Given the description of an element on the screen output the (x, y) to click on. 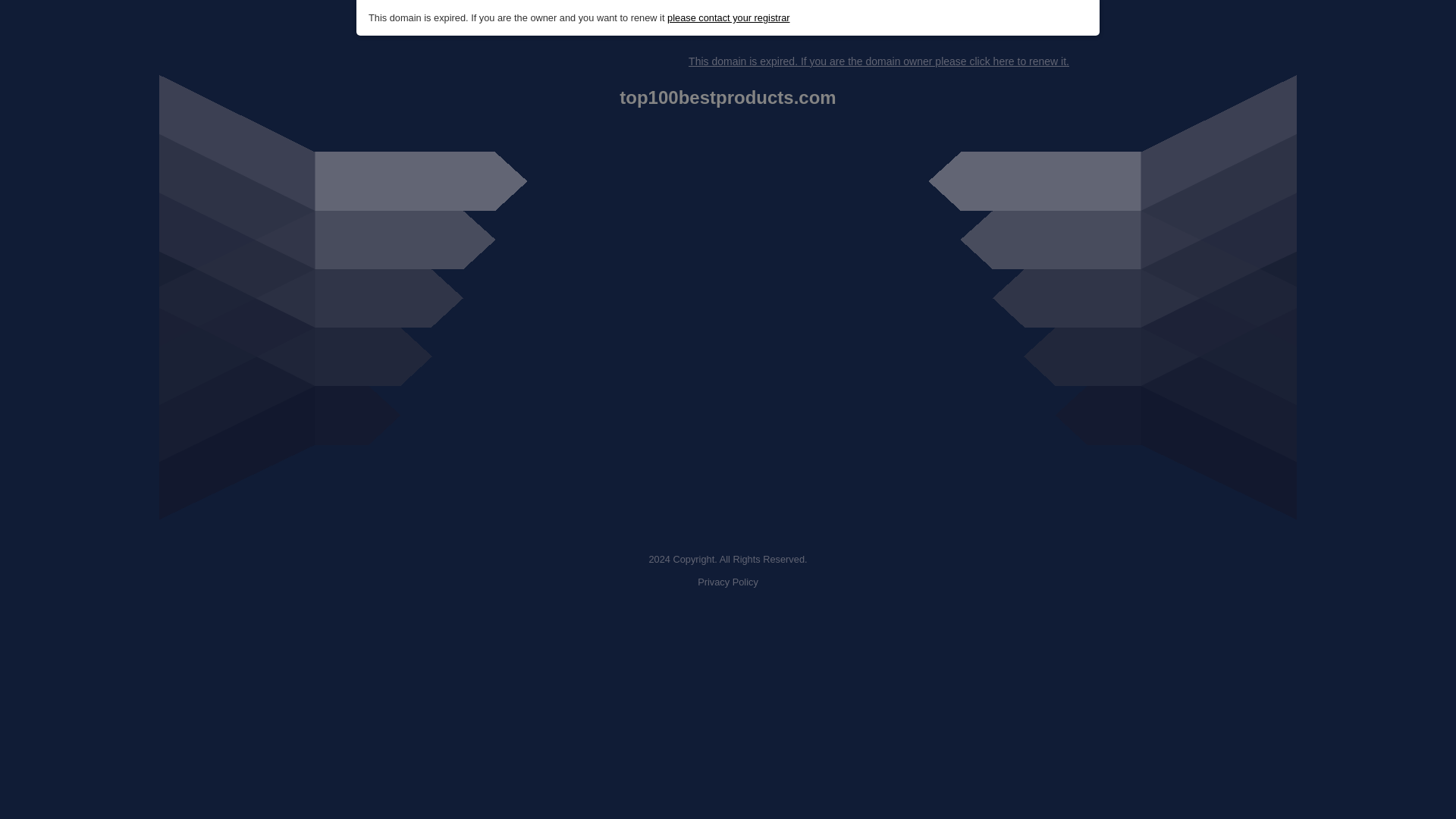
Privacy Policy (727, 582)
please contact your registrar (727, 17)
